Given the description of an element on the screen output the (x, y) to click on. 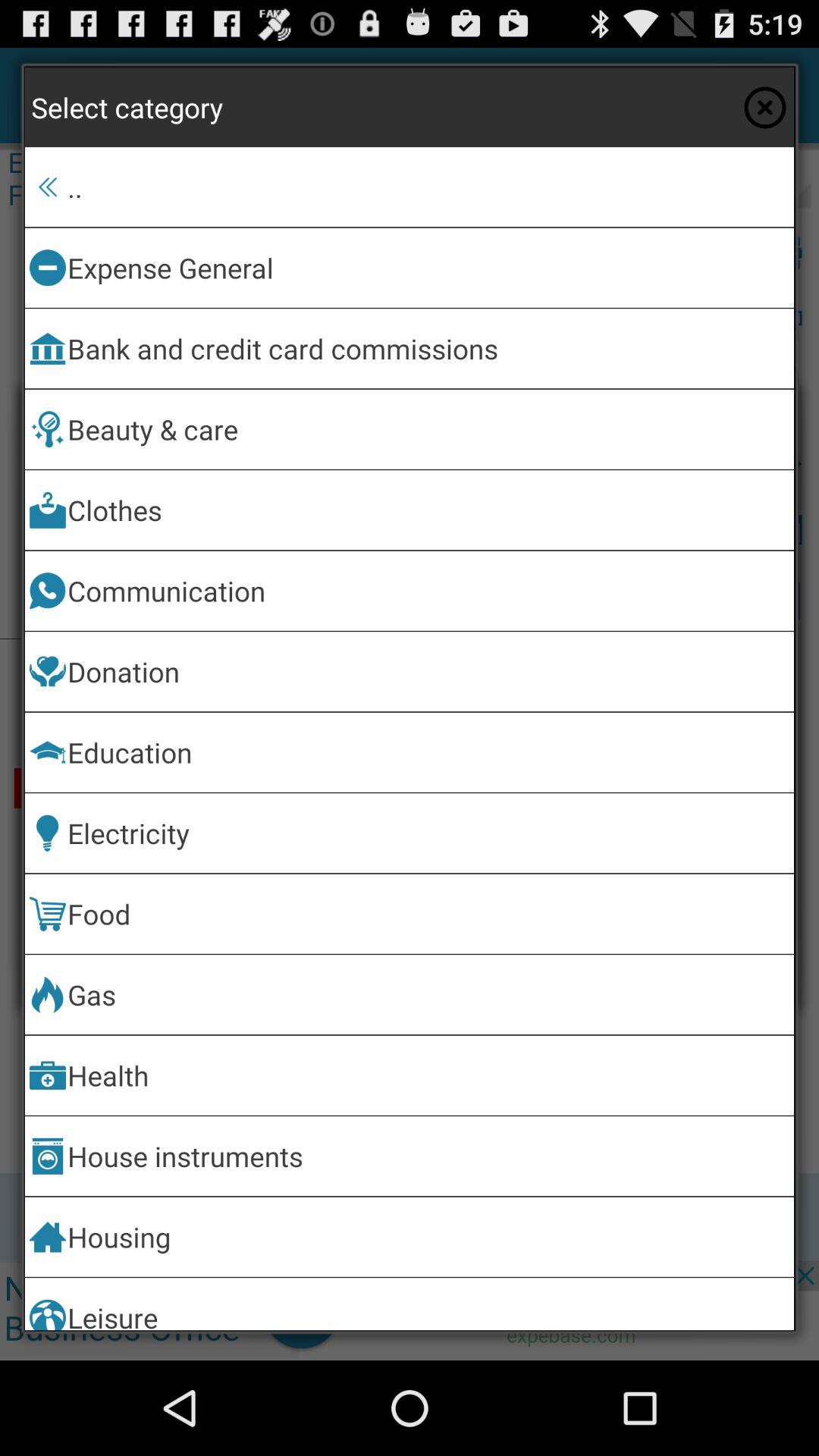
select icon above donation icon (427, 590)
